Given the description of an element on the screen output the (x, y) to click on. 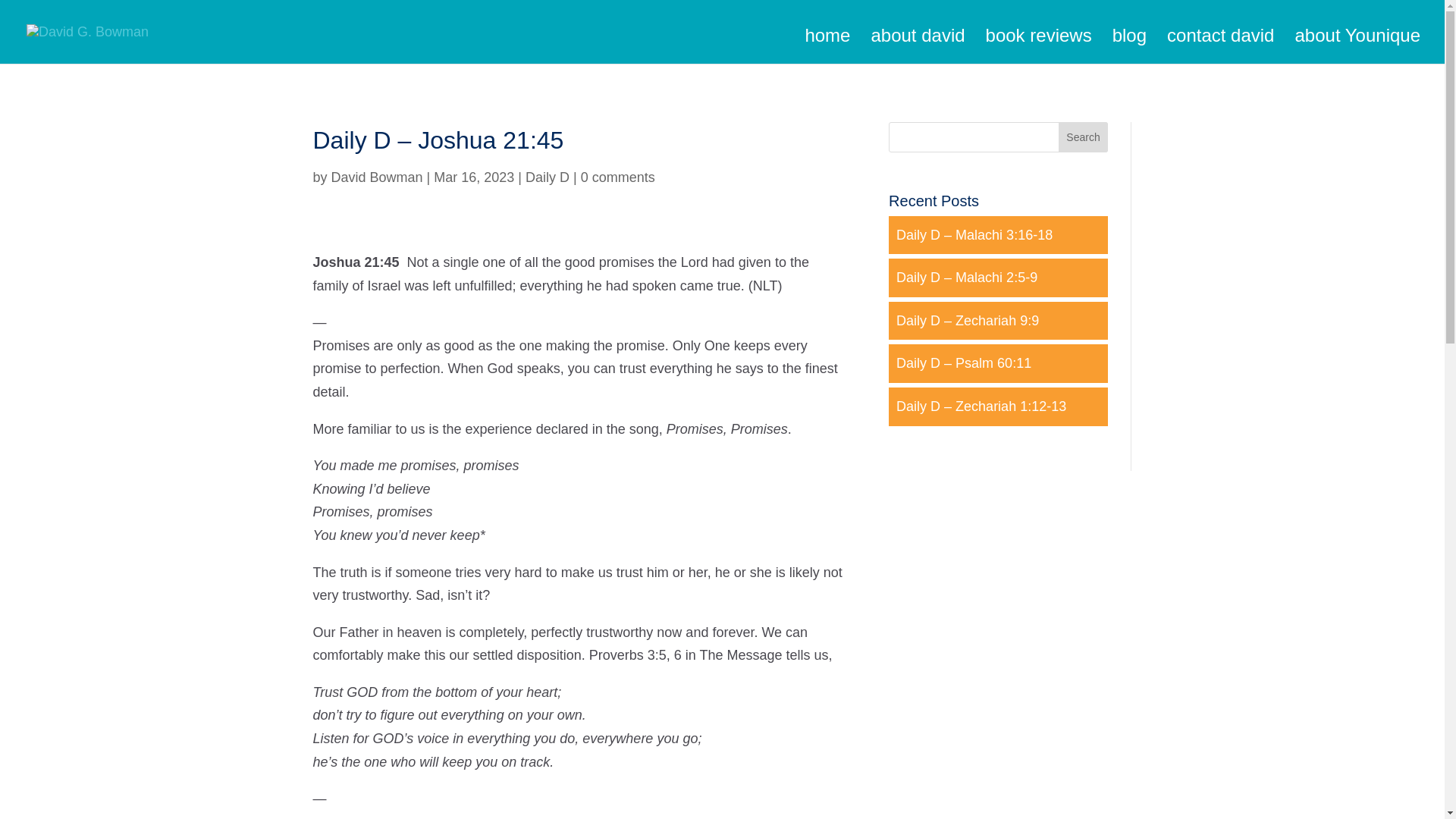
contact david (1220, 43)
book reviews (1038, 43)
Posts by David Bowman (377, 177)
David Bowman (377, 177)
about Younique (1357, 43)
blog (1129, 43)
Daily D (547, 177)
Search (1083, 137)
about david (916, 43)
Search (1083, 137)
